Given the description of an element on the screen output the (x, y) to click on. 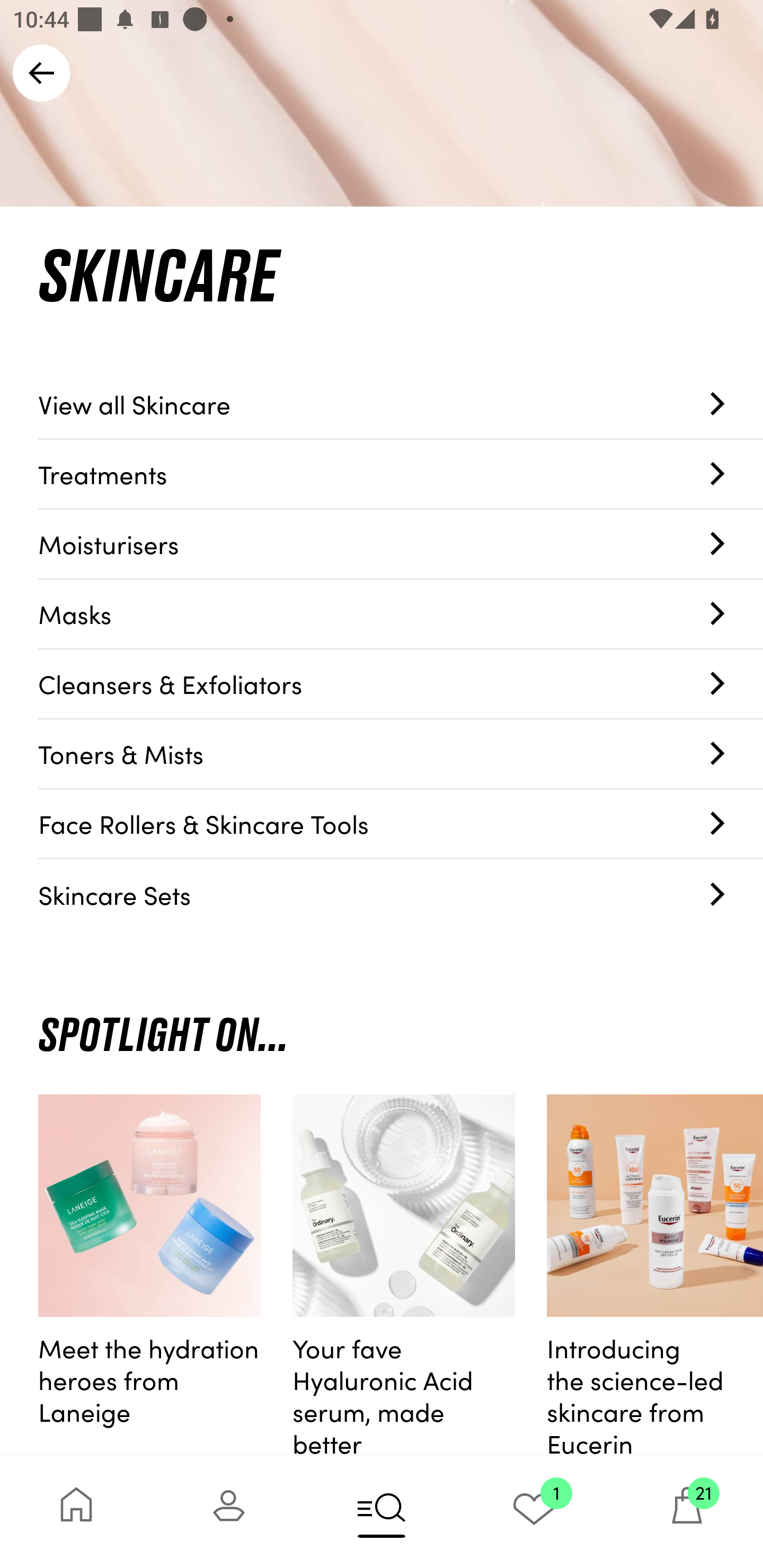
View all Skincare (400, 404)
Treatments (400, 474)
Moisturisers (400, 544)
Masks (400, 614)
Cleansers & Exfoliators (400, 684)
Toners & Mists (400, 753)
Face Rollers & Skincare Tools (400, 823)
Skincare Sets (400, 894)
Meet the hydration heroes from Laneige (149, 1275)
Your fave Hyaluronic Acid serum, made better (403, 1275)
Introducing the science-led skincare from Eucerin (655, 1275)
1 (533, 1512)
21 (686, 1512)
